Given the description of an element on the screen output the (x, y) to click on. 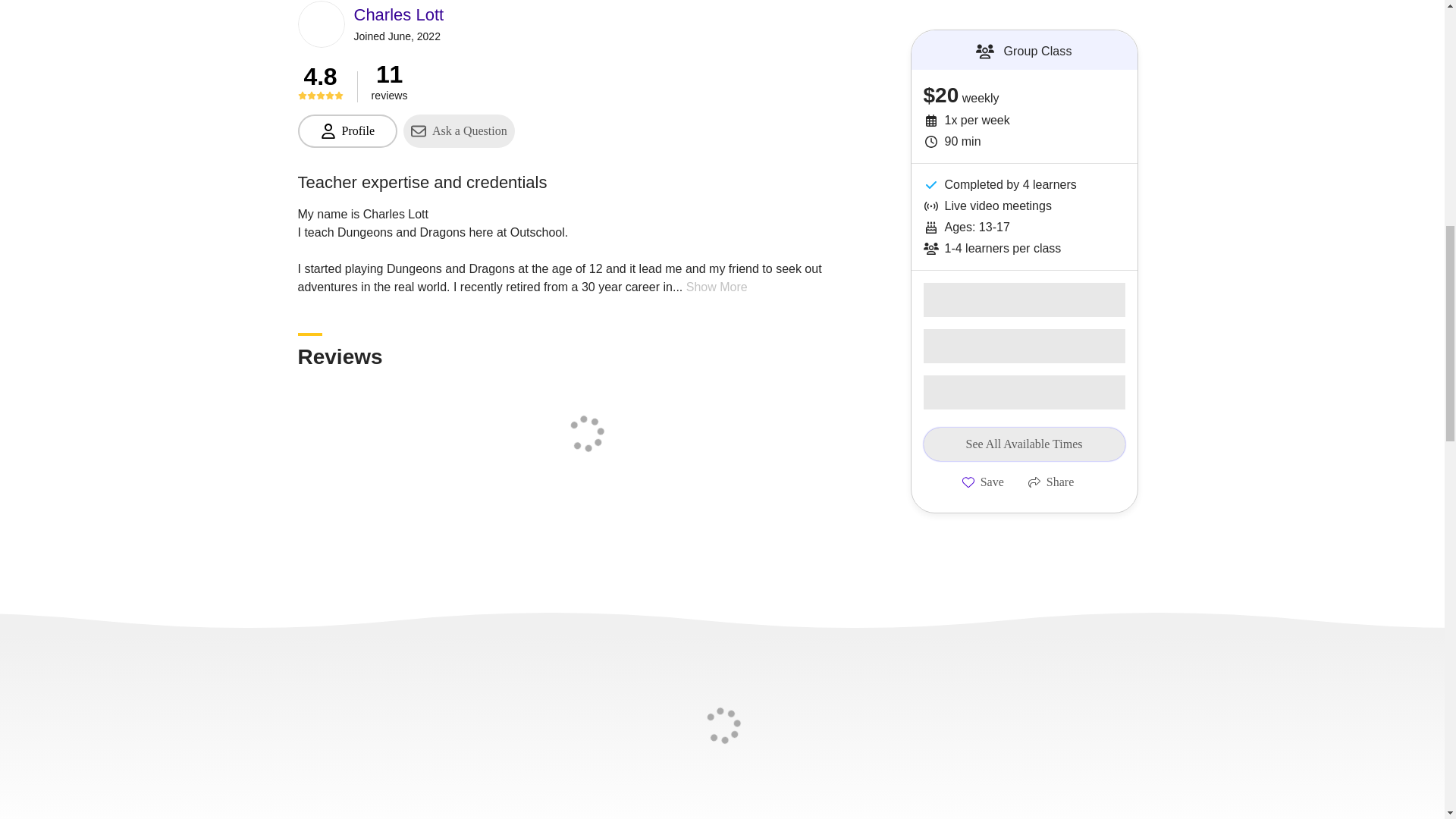
Ask a Question (459, 131)
Profile (347, 131)
Charles Lott (398, 14)
Show More (716, 287)
